Given the description of an element on the screen output the (x, y) to click on. 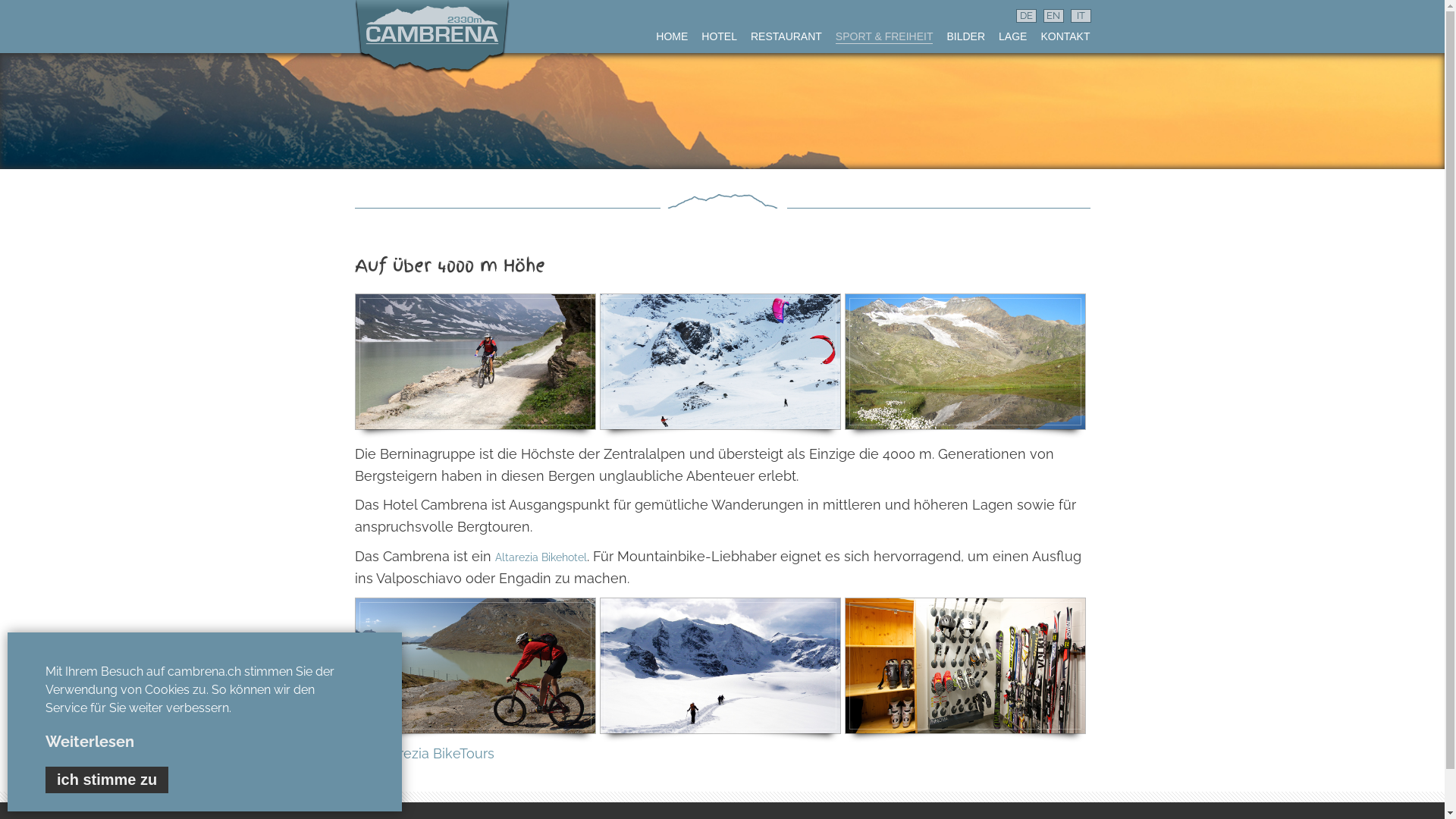
DE Element type: text (1026, 15)
IT Element type: text (1080, 15)
Altarezia BikeTours Element type: text (433, 753)
LAGE Element type: text (1012, 31)
BILDER Element type: text (965, 31)
HOME Element type: text (671, 31)
ich stimme zu Element type: text (106, 779)
KONTAKT Element type: text (1064, 31)
EN Element type: text (1053, 15)
RESTAURANT Element type: text (786, 31)
Weiterlesen Element type: text (89, 741)
Altarezia Bikehotel Element type: text (540, 557)
HOTEL Element type: text (719, 31)
SPORT & FREIHEIT Element type: text (884, 31)
